Given the description of an element on the screen output the (x, y) to click on. 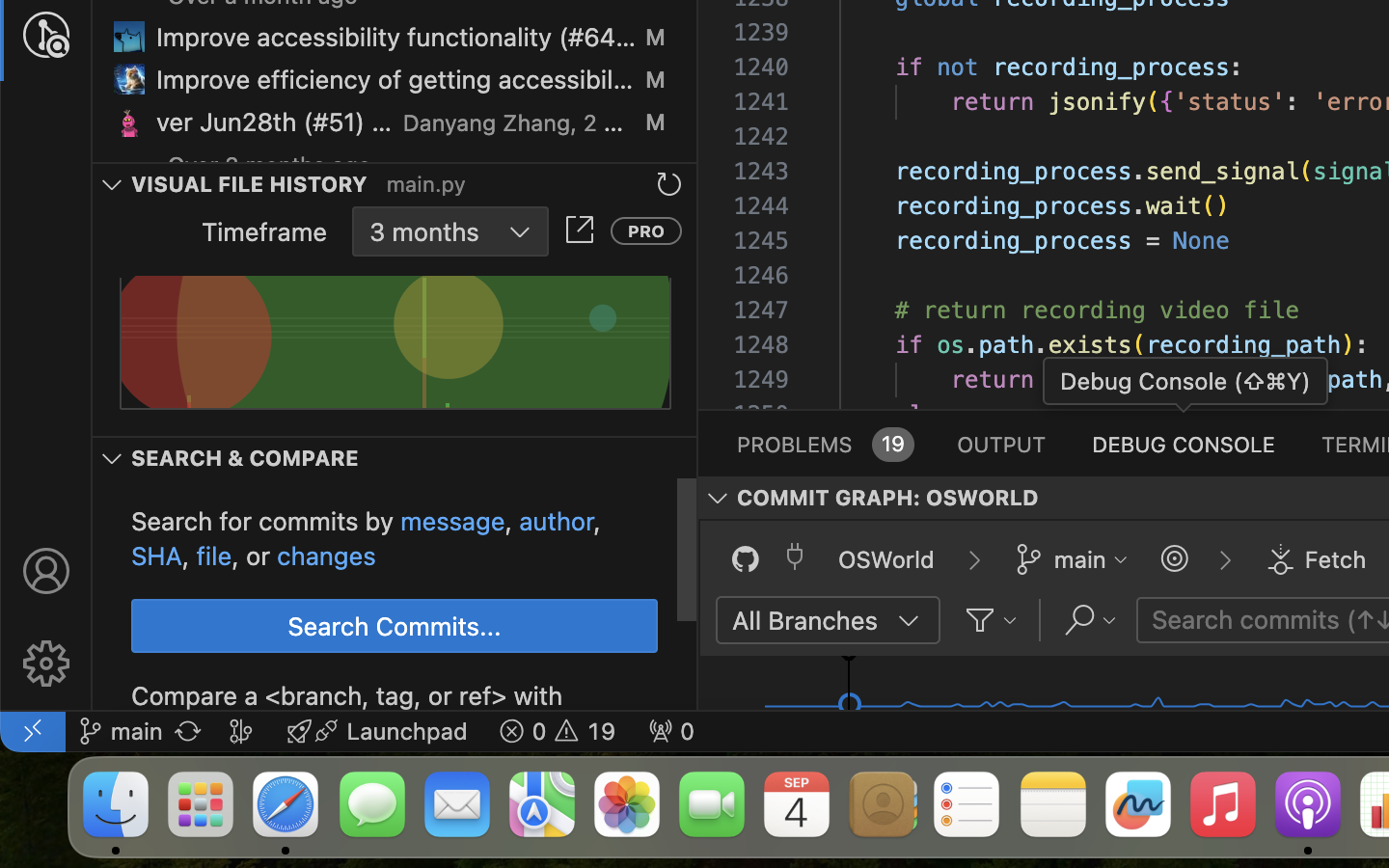
 Element type: AXStaticText (1174, 558)
M Element type: AXStaticText (654, 36)
VISUAL FILE HISTORY Element type: AXStaticText (249, 183)
Danyang Zhang, 2 months ago Element type: AXStaticText (514, 122)
, or Element type: AXStaticText (254, 556)
